Given the description of an element on the screen output the (x, y) to click on. 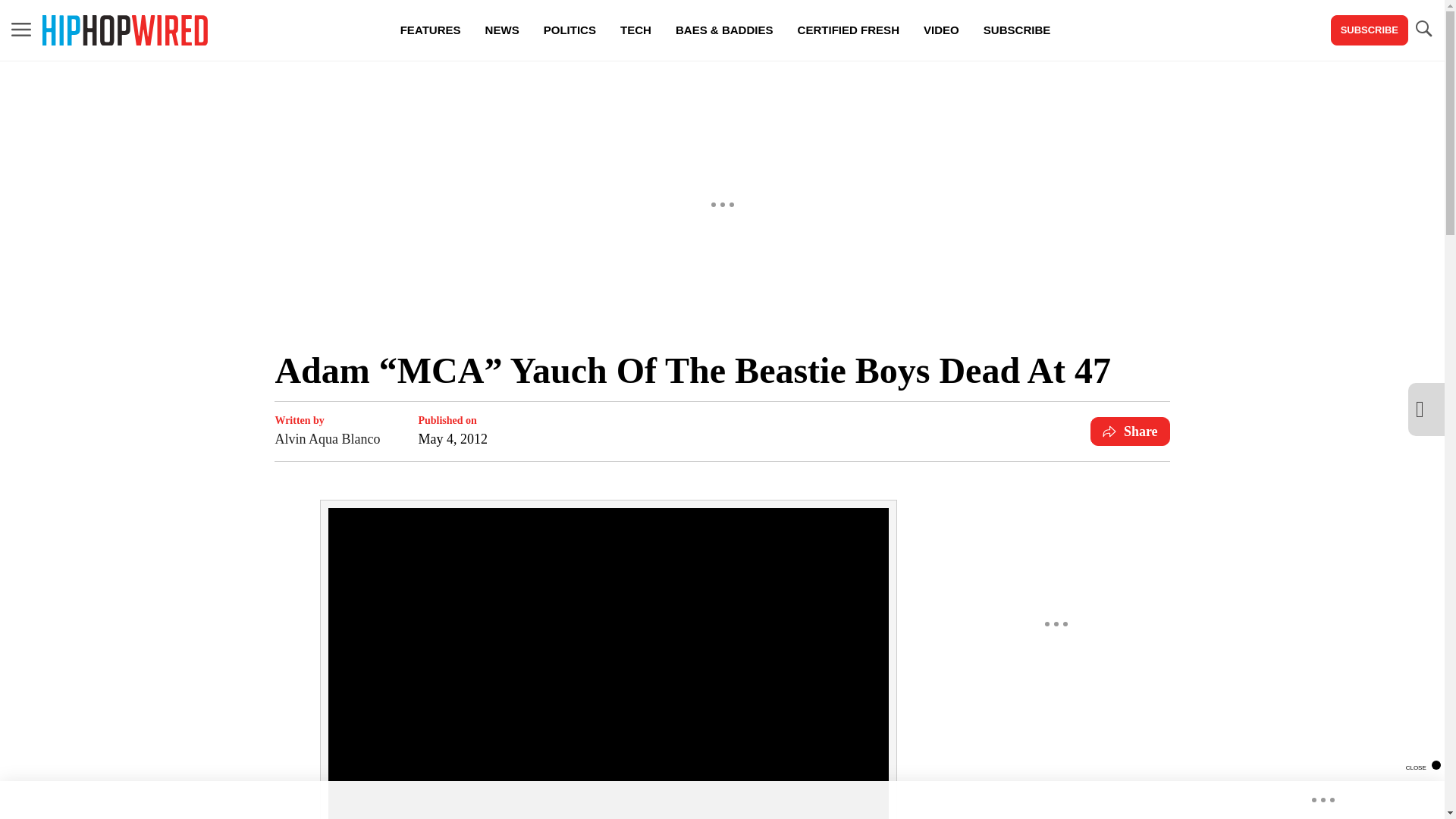
SUBSCRIBE (1016, 30)
SUBSCRIBE (1368, 30)
FEATURES (430, 30)
TOGGLE SEARCH (1422, 28)
Alvin Aqua Blanco (327, 438)
TOGGLE SEARCH (1422, 30)
CERTIFIED FRESH (848, 30)
NEWS (502, 30)
POLITICS (569, 30)
VIDEO (941, 30)
